Given the description of an element on the screen output the (x, y) to click on. 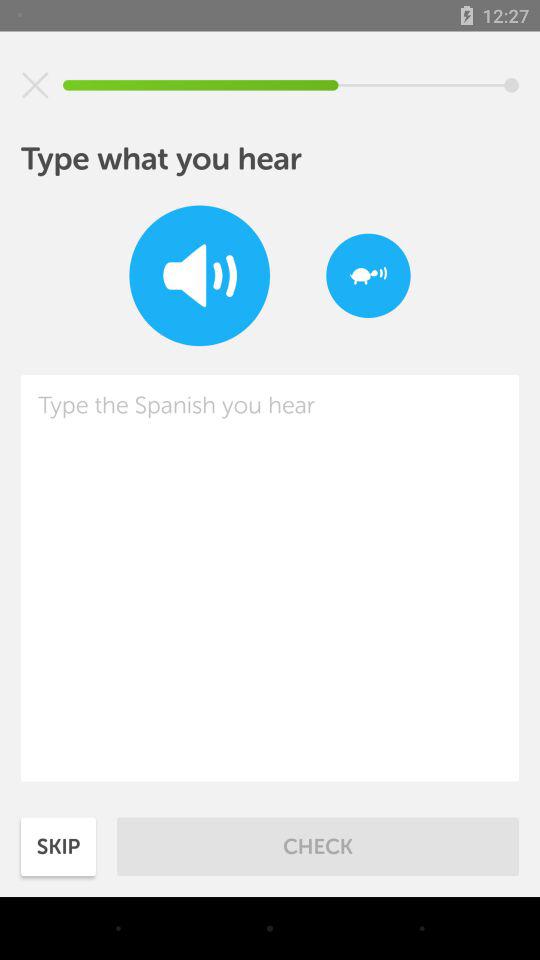
select the icon next to the skip (318, 846)
